Given the description of an element on the screen output the (x, y) to click on. 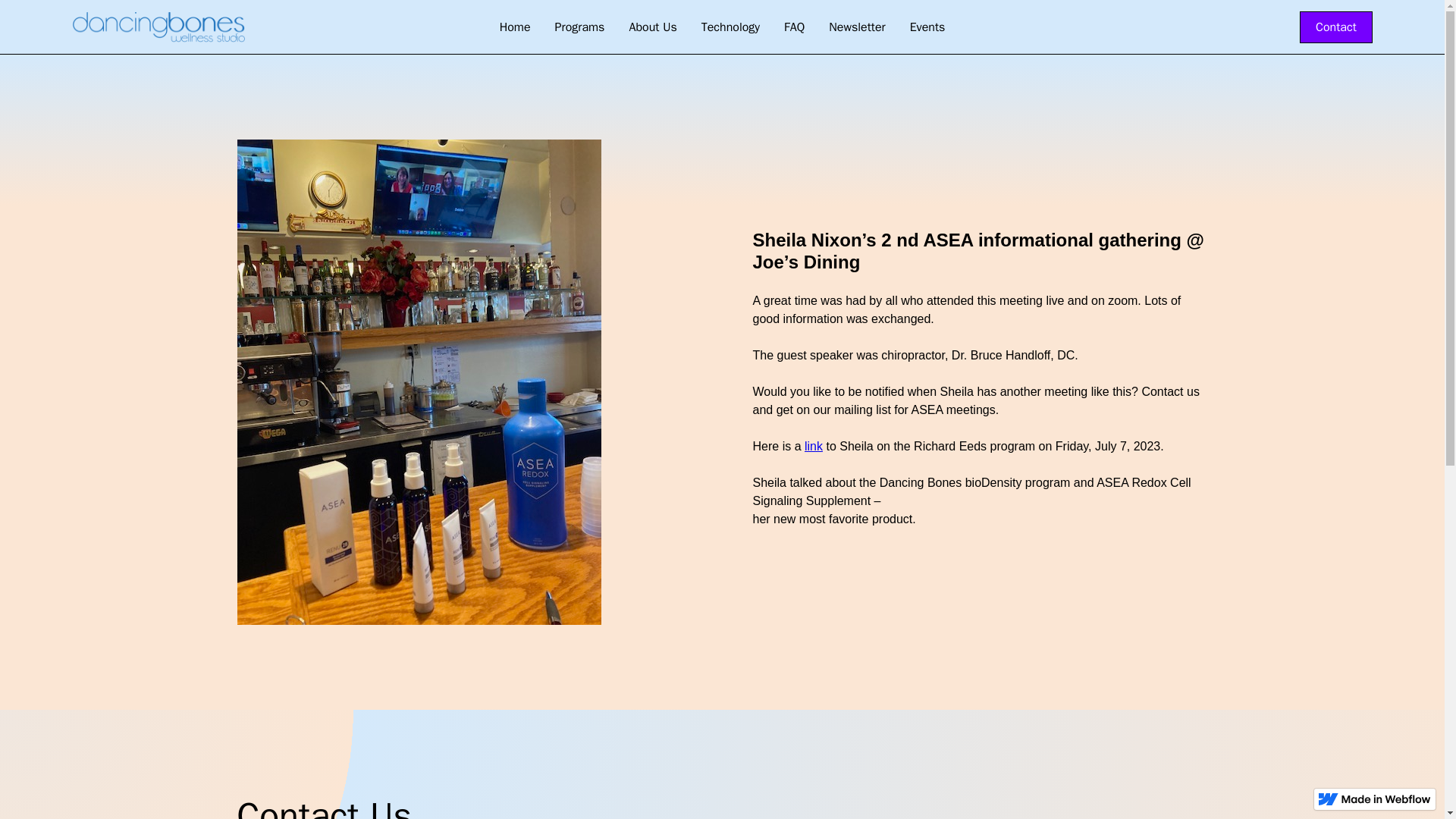
Programs (580, 27)
link (813, 445)
Home (515, 27)
DancingBones (969, 806)
Technology (729, 27)
Newsletter (856, 27)
Events (928, 27)
FAQ (793, 27)
About Us (651, 27)
Contact (1336, 26)
